Given the description of an element on the screen output the (x, y) to click on. 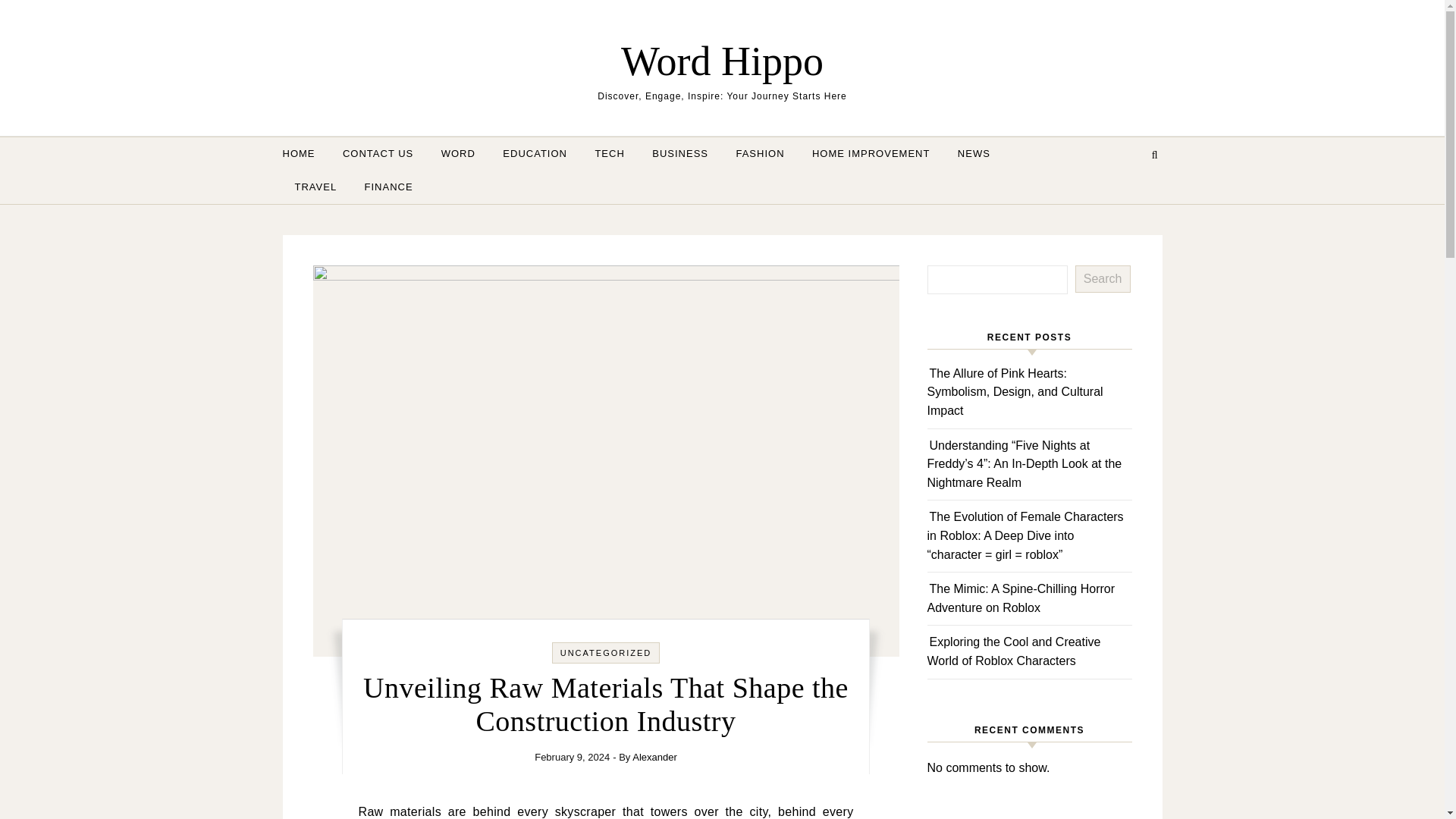
BUSINESS (680, 153)
NEWS (973, 153)
TECH (609, 153)
EDUCATION (534, 153)
HOME IMPROVEMENT (870, 153)
Posts by Alexander (654, 756)
UNCATEGORIZED (606, 652)
Alexander (654, 756)
FASHION (759, 153)
CONTACT US (377, 153)
Word Hippo (721, 61)
WORD (458, 153)
HOME (304, 153)
TRAVEL (315, 186)
FINANCE (382, 186)
